Given the description of an element on the screen output the (x, y) to click on. 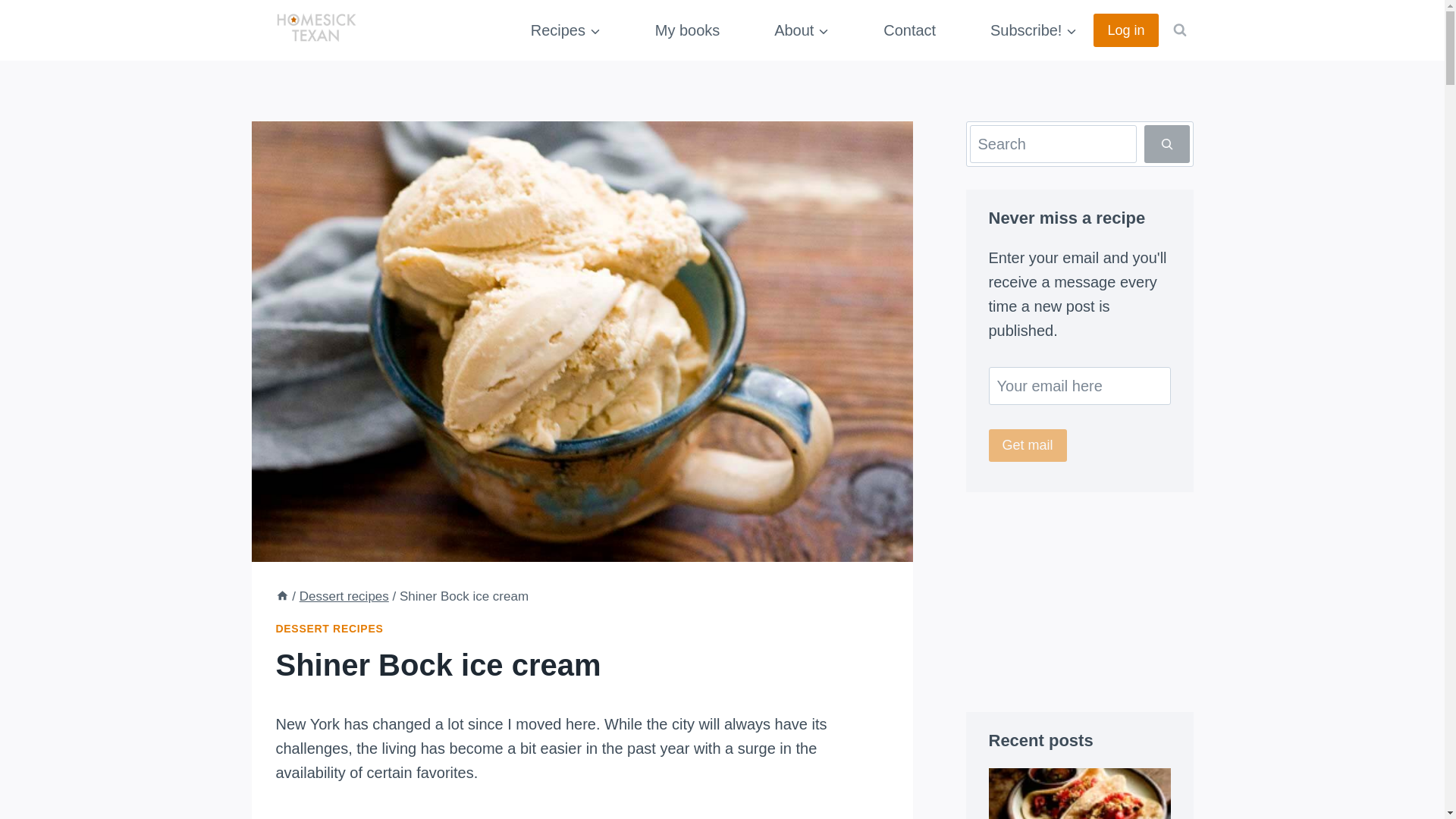
About (801, 30)
Home (282, 595)
Subscribe! (1033, 30)
Dessert recipes (343, 595)
Contact (909, 30)
Recipes (565, 30)
Log in (1125, 29)
DESSERT RECIPES (330, 628)
Get mail (1027, 445)
My books (687, 30)
